Given the description of an element on the screen output the (x, y) to click on. 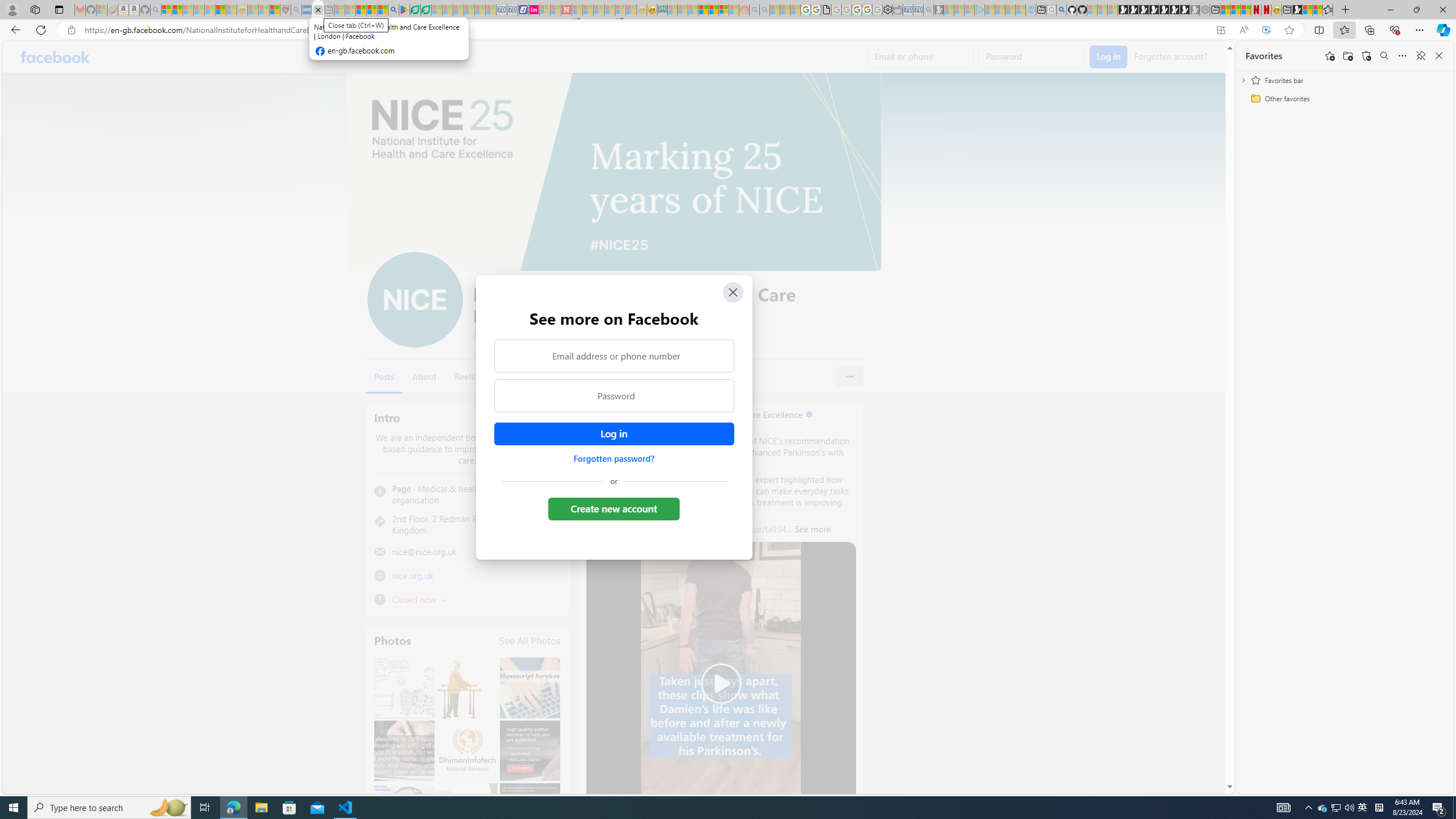
Facebook (55, 56)
Terms of Use Agreement (414, 9)
Forgotten account? (1170, 55)
Wildlife - MSN (1307, 9)
